Given the description of an element on the screen output the (x, y) to click on. 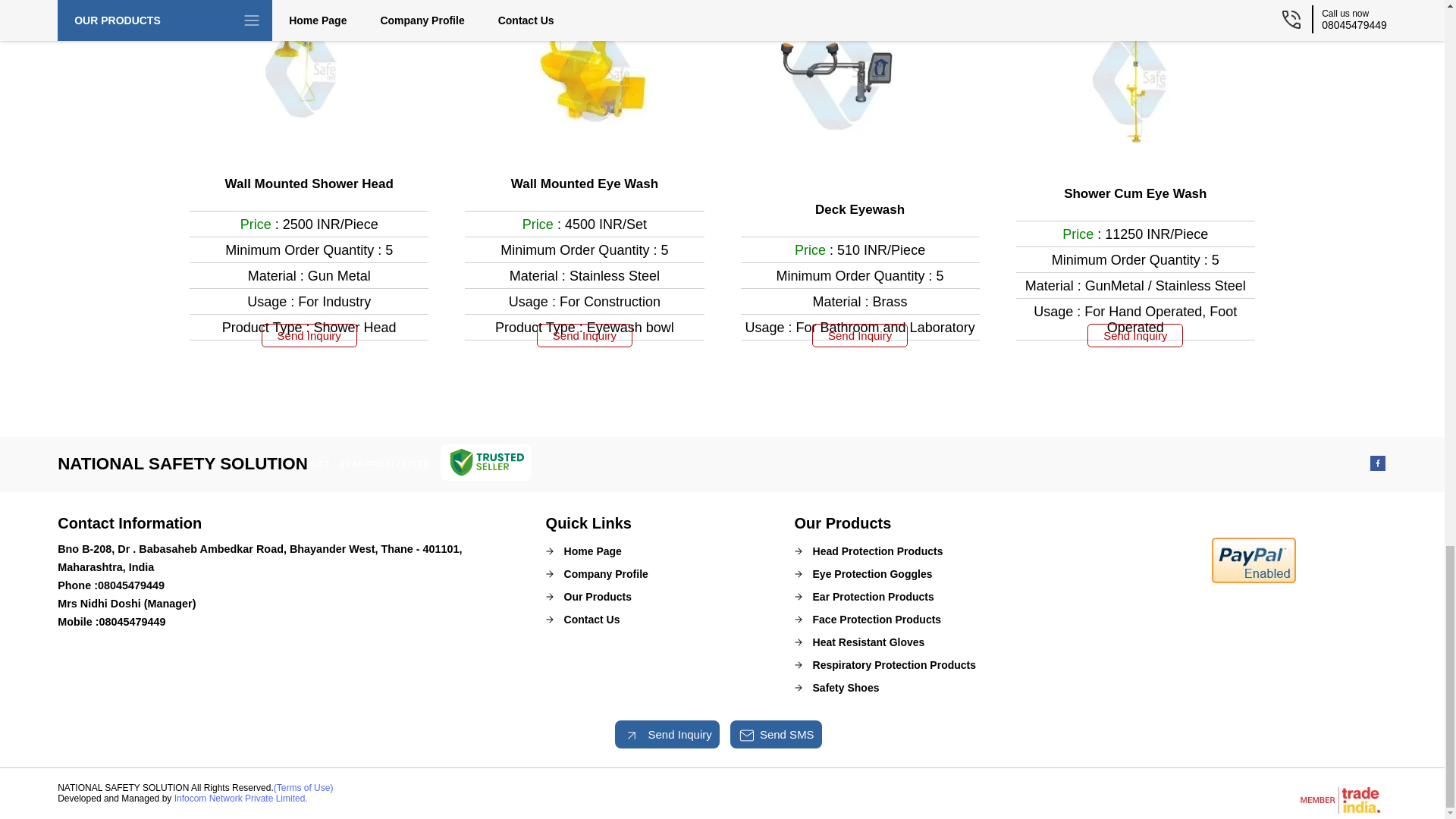
Accepts payment through paypal (1253, 579)
Facebook (1378, 466)
Send SMS (746, 735)
Send Inquiry (631, 735)
Accepts payment through paypal (1253, 560)
